Given the description of an element on the screen output the (x, y) to click on. 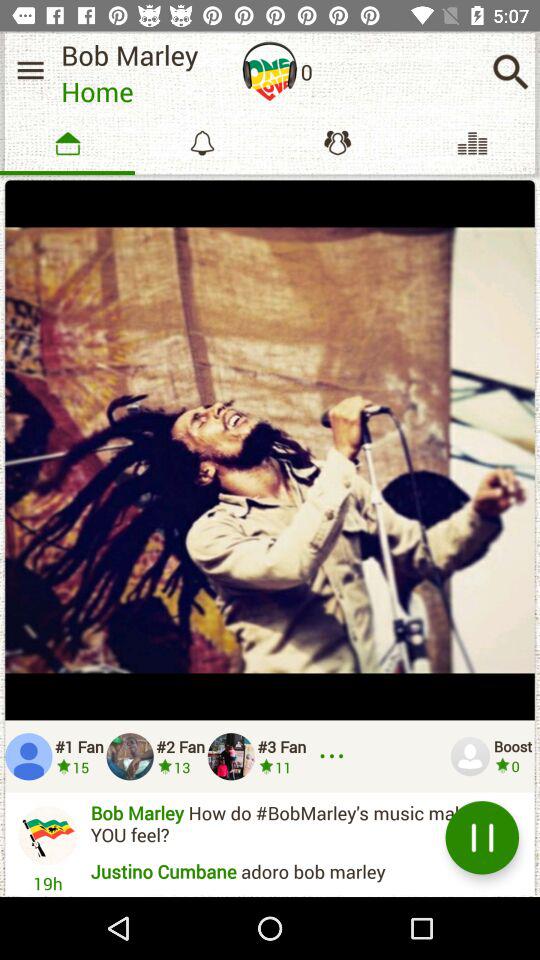
launch the icon next to #3 fan icon (335, 756)
